Given the description of an element on the screen output the (x, y) to click on. 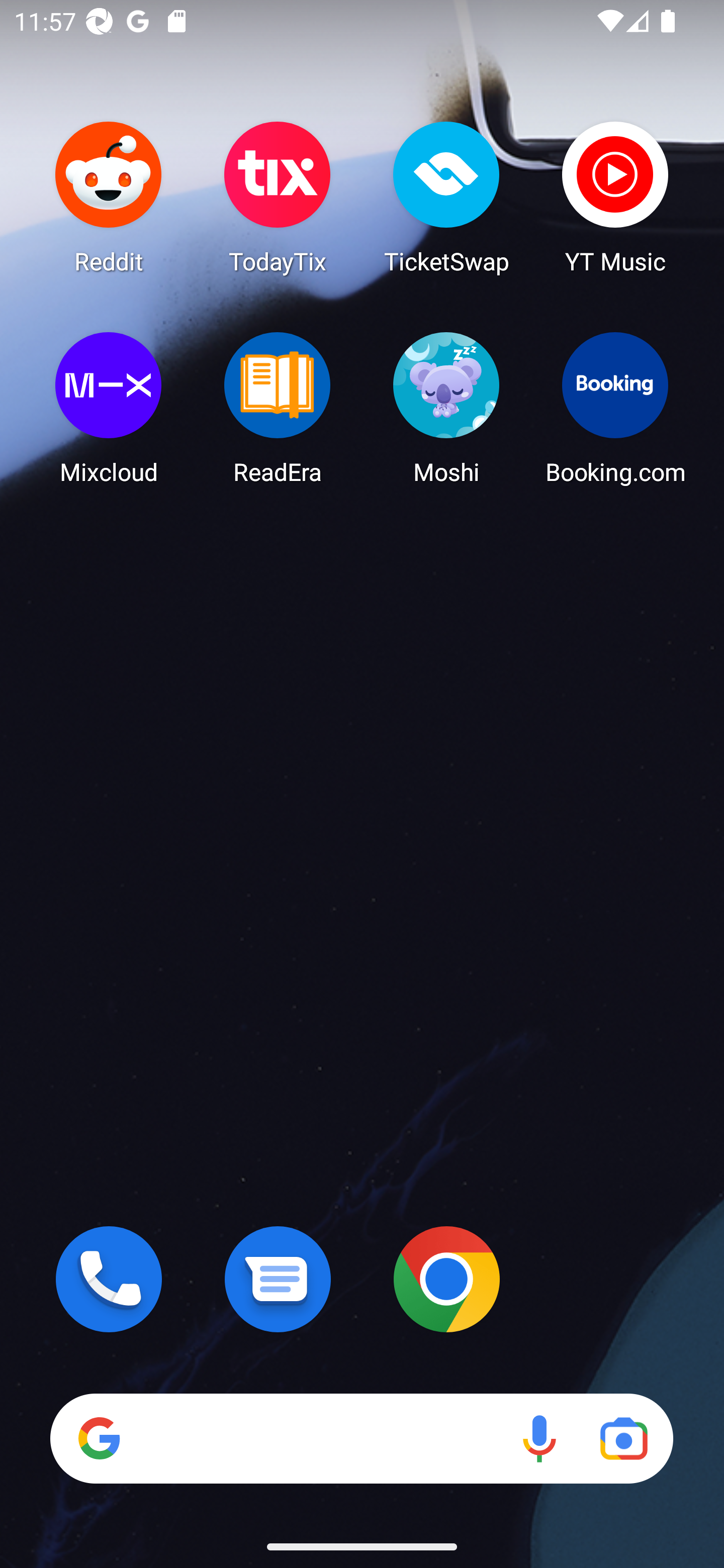
Reddit (108, 196)
TodayTix (277, 196)
TicketSwap (445, 196)
YT Music (615, 196)
Mixcloud (108, 407)
ReadEra (277, 407)
Moshi (445, 407)
Booking.com (615, 407)
Phone (108, 1279)
Messages (277, 1279)
Chrome (446, 1279)
Search Voice search Google Lens (361, 1438)
Voice search (539, 1438)
Google Lens (623, 1438)
